Given the description of an element on the screen output the (x, y) to click on. 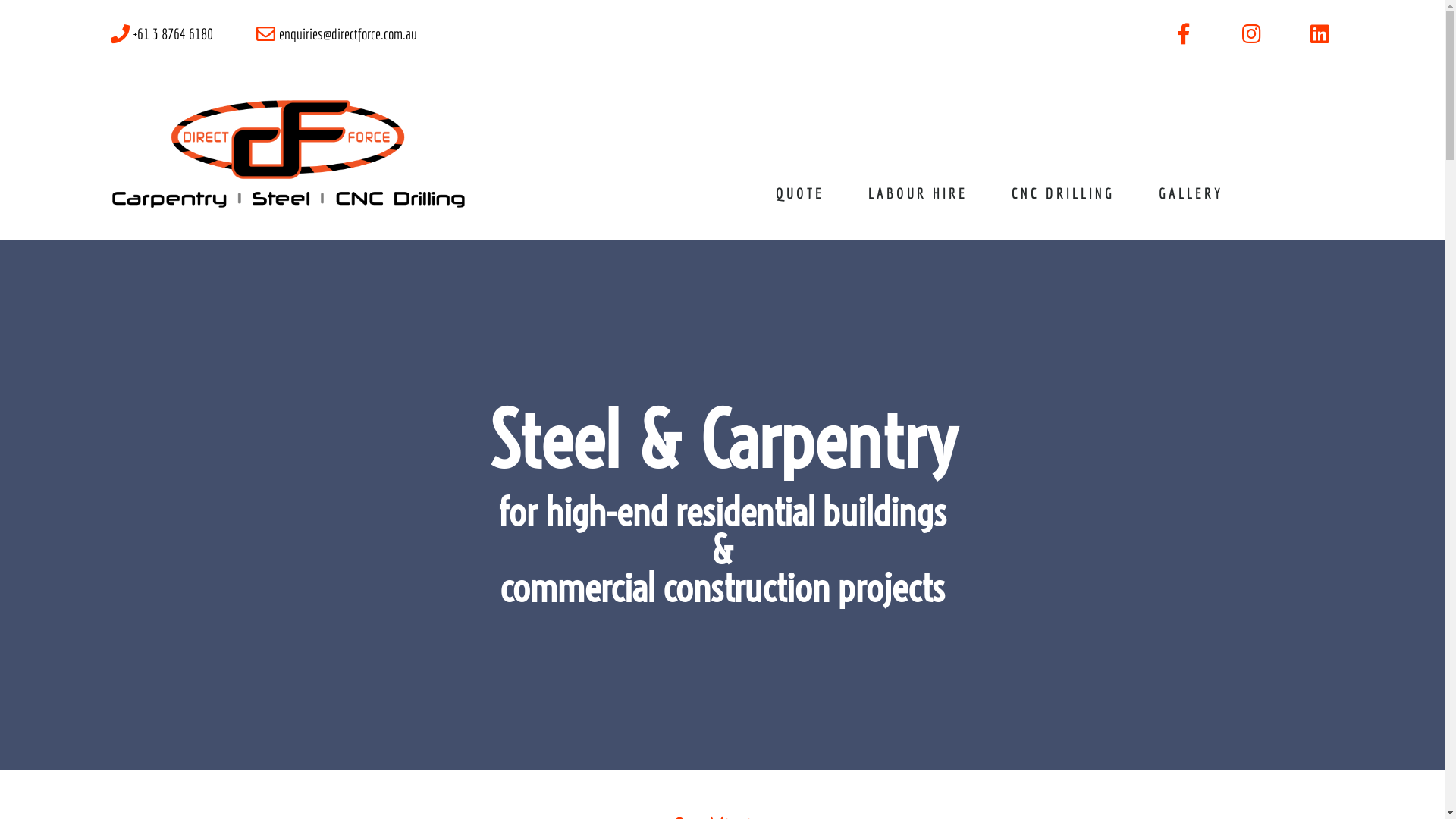
LABOUR HIRE Element type: text (917, 193)
GALLERY Element type: text (1190, 193)
QUOTE Element type: text (799, 193)
+61 3 8764 6180 Element type: text (159, 33)
enquiries@directforce.com.au Element type: text (333, 33)
CNC DRILLING Element type: text (1062, 193)
